Given the description of an element on the screen output the (x, y) to click on. 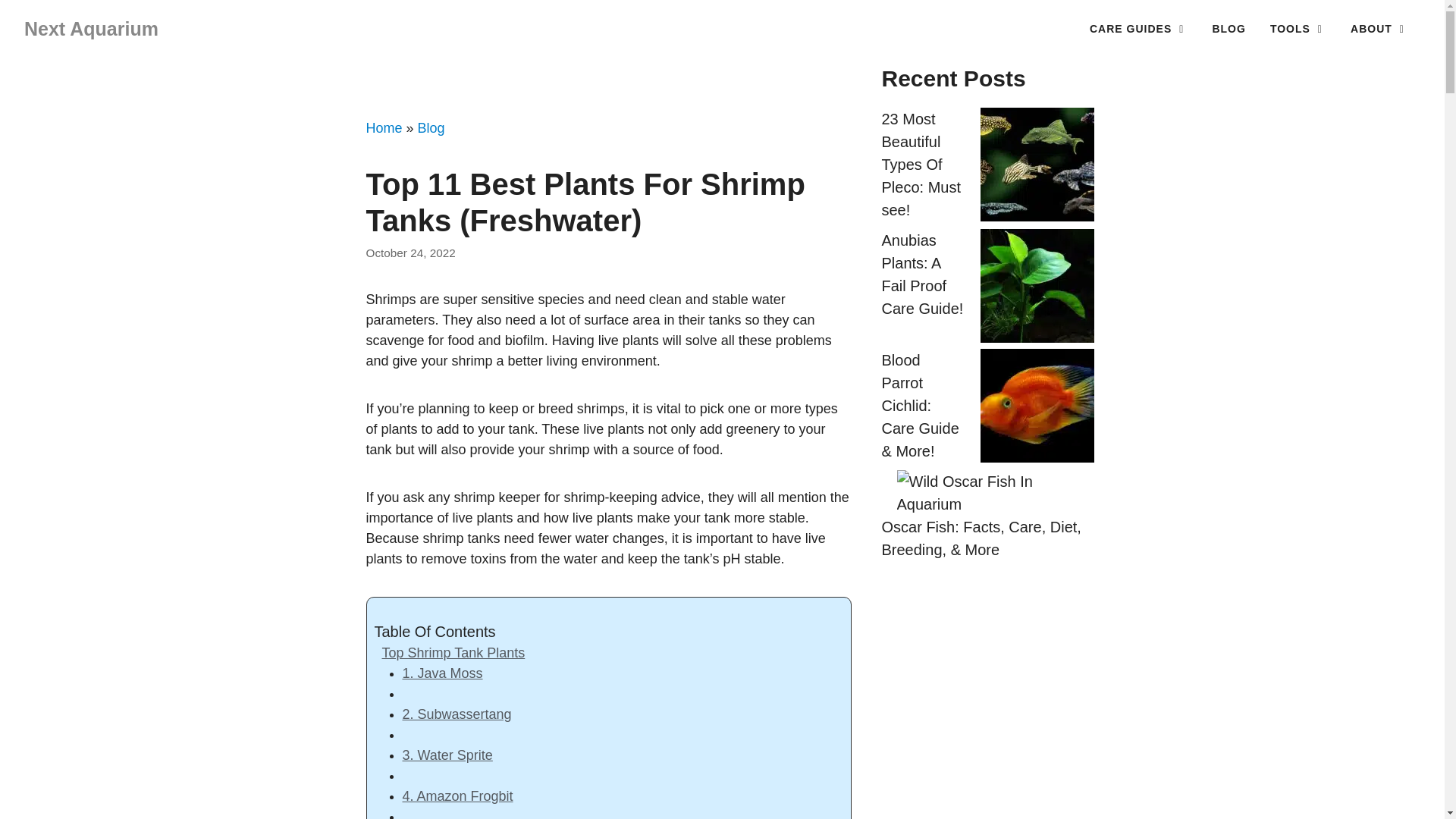
Blog (431, 127)
3. Water Sprite (446, 754)
1. Java Moss (441, 672)
Top Shrimp Tank Plants (453, 652)
TOOLS (1297, 28)
ABOUT (1379, 28)
CARE GUIDES (1138, 28)
4. Amazon Frogbit (456, 795)
2. Subwassertang (456, 713)
Home (383, 127)
